Given the description of an element on the screen output the (x, y) to click on. 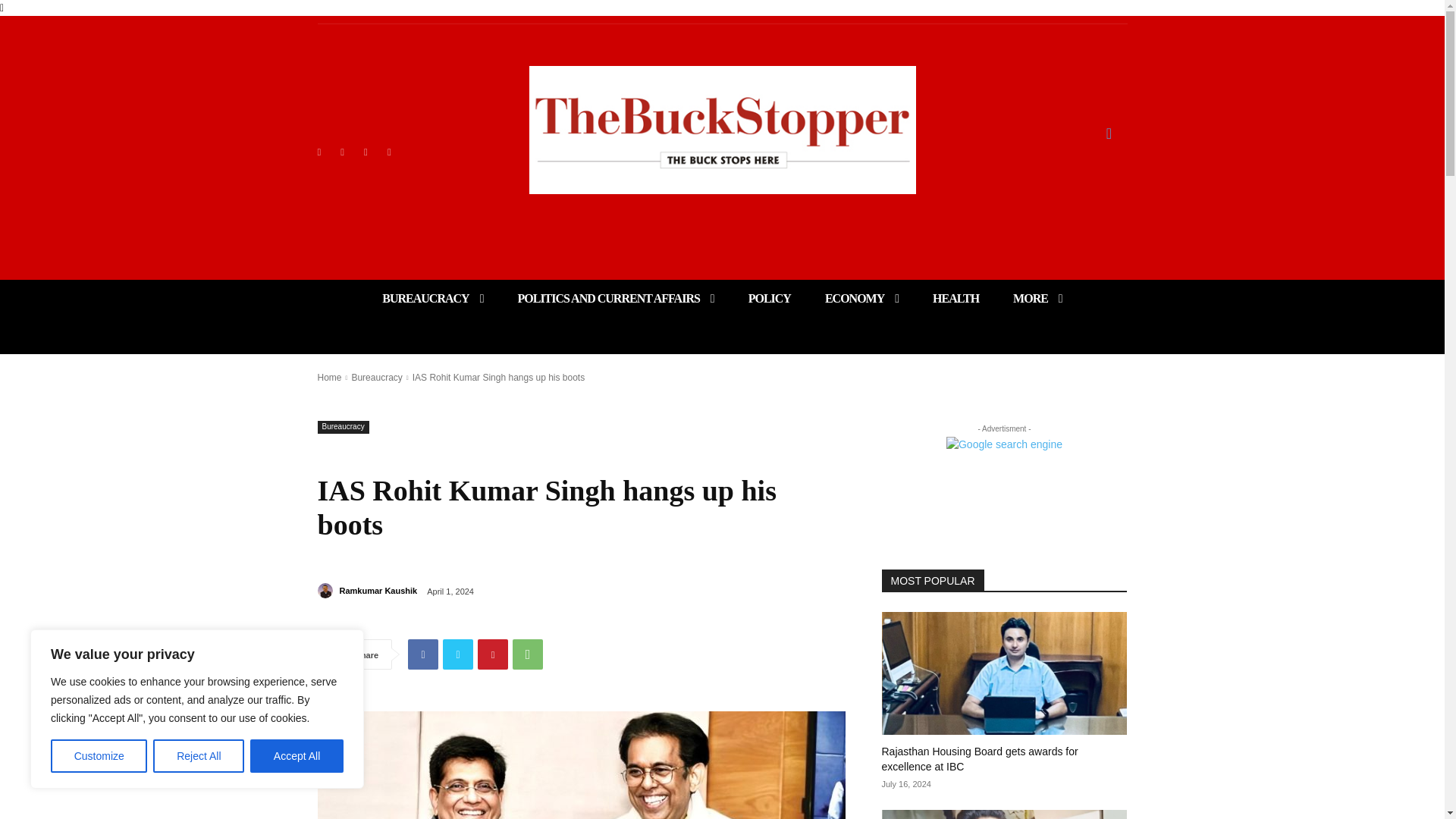
View all posts in Bureaucracy (375, 377)
Reject All (198, 756)
Facebook (318, 151)
Accept All (296, 756)
Customize (98, 756)
Twitter (389, 151)
TikTok (366, 151)
TheBuckStopper (722, 130)
Instagram (342, 151)
